Given the description of an element on the screen output the (x, y) to click on. 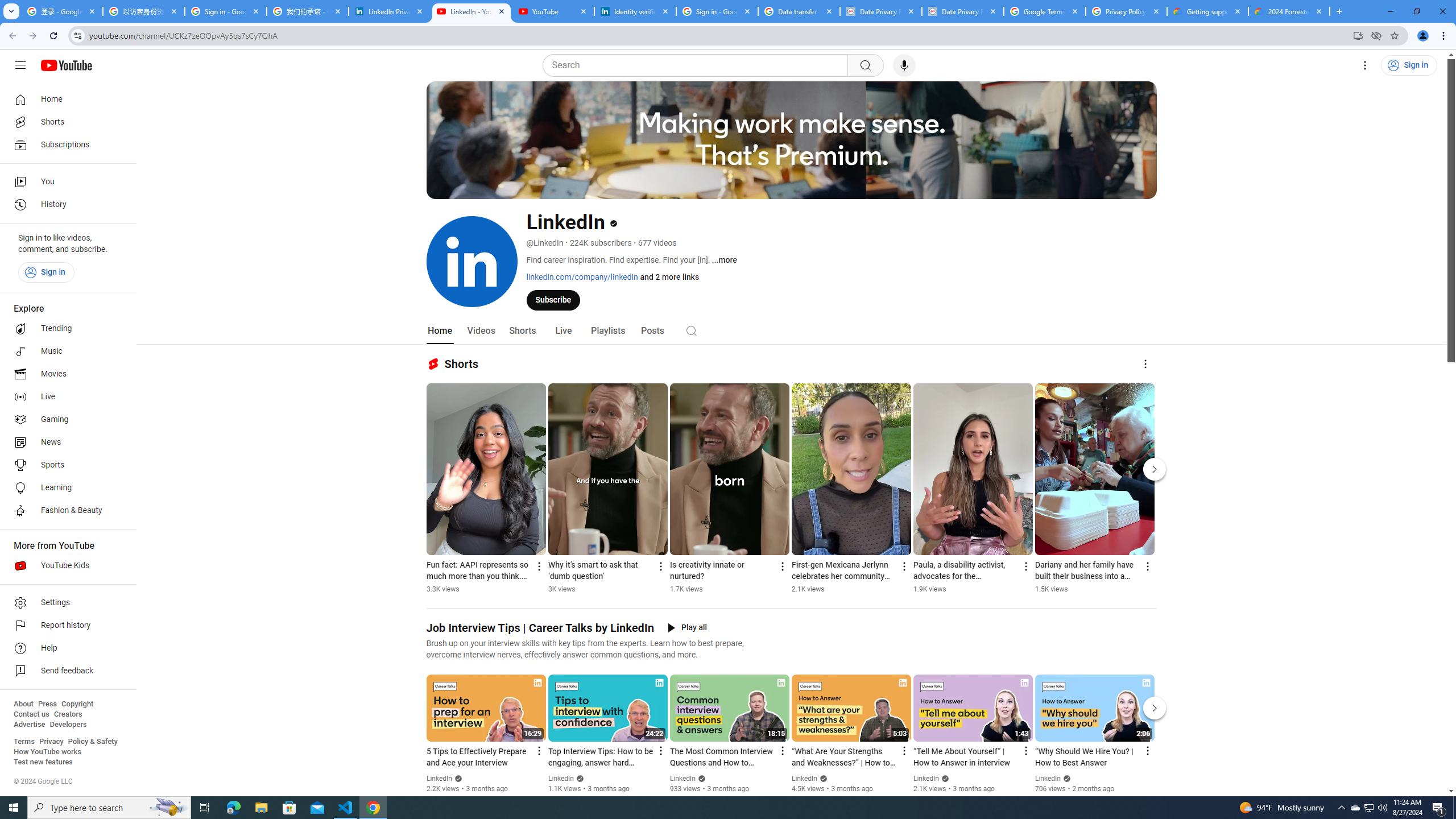
Movies (64, 373)
LinkedIn - YouTube (470, 11)
New Tab (1338, 11)
Search (691, 330)
Search with your voice (903, 65)
Verified (1065, 777)
Back (10, 35)
LinkedIn Privacy Policy (389, 11)
About (23, 703)
Playlists (607, 330)
Search tabs (10, 11)
Guide (20, 65)
Bookmark this tab (1393, 35)
